Given the description of an element on the screen output the (x, y) to click on. 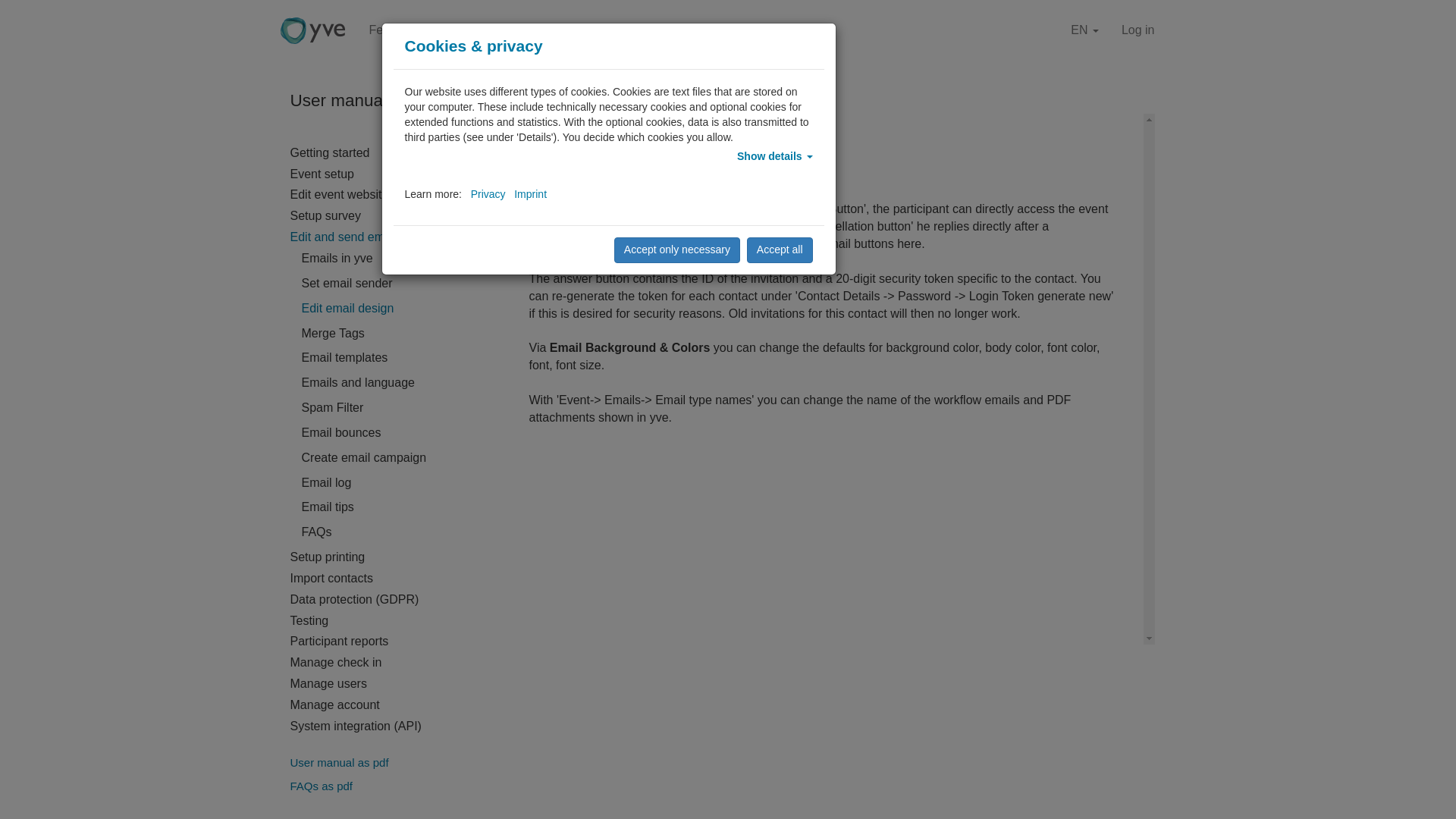
Log in (1137, 30)
Show details  (774, 155)
EN (1084, 30)
Privacy (487, 193)
Features (393, 30)
yve event tool (312, 30)
Pricing (457, 30)
Accept only necessary (676, 249)
search (643, 100)
Edit event website (338, 196)
